Given the description of an element on the screen output the (x, y) to click on. 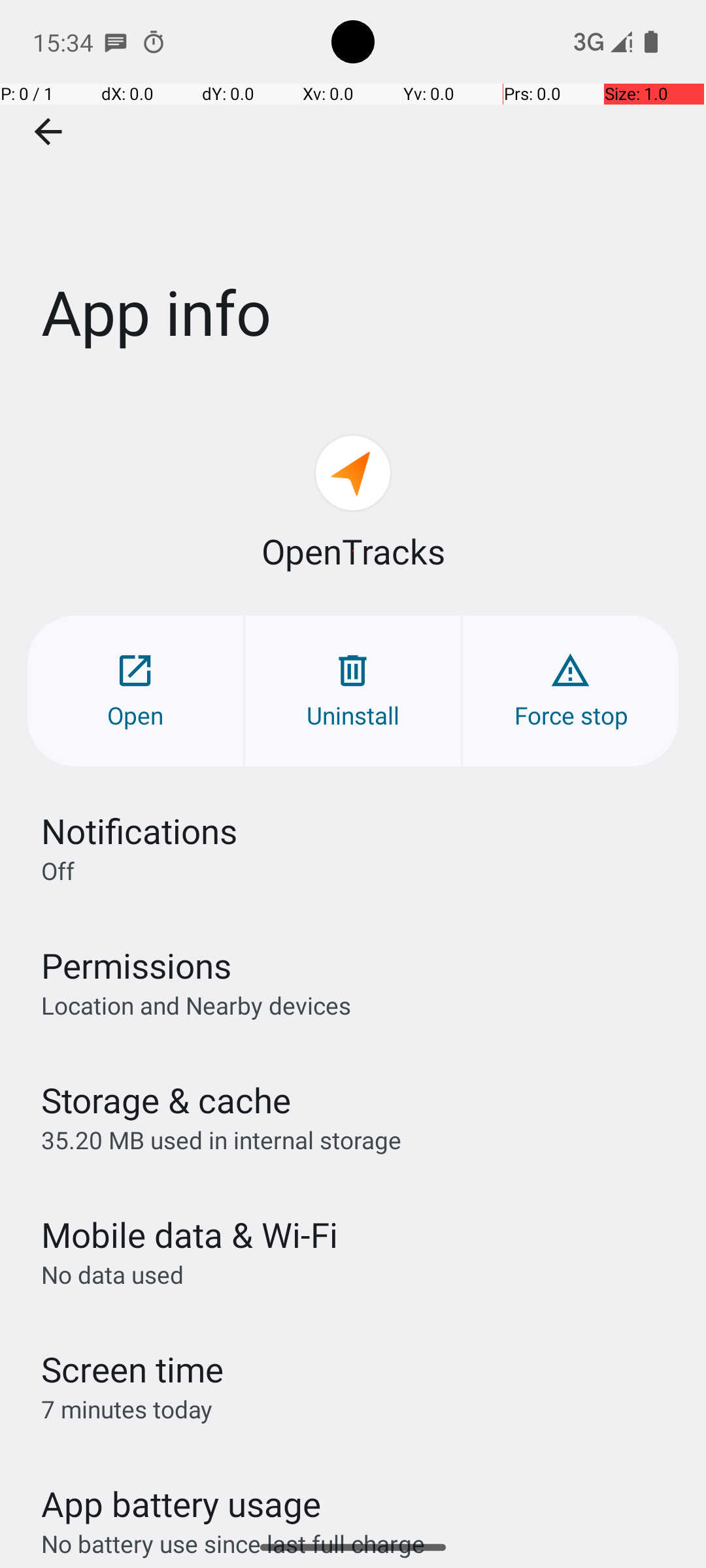
Location and Nearby devices Element type: android.widget.TextView (196, 1004)
35.20 MB used in internal storage Element type: android.widget.TextView (221, 1139)
7 minutes today Element type: android.widget.TextView (127, 1408)
